Given the description of an element on the screen output the (x, y) to click on. 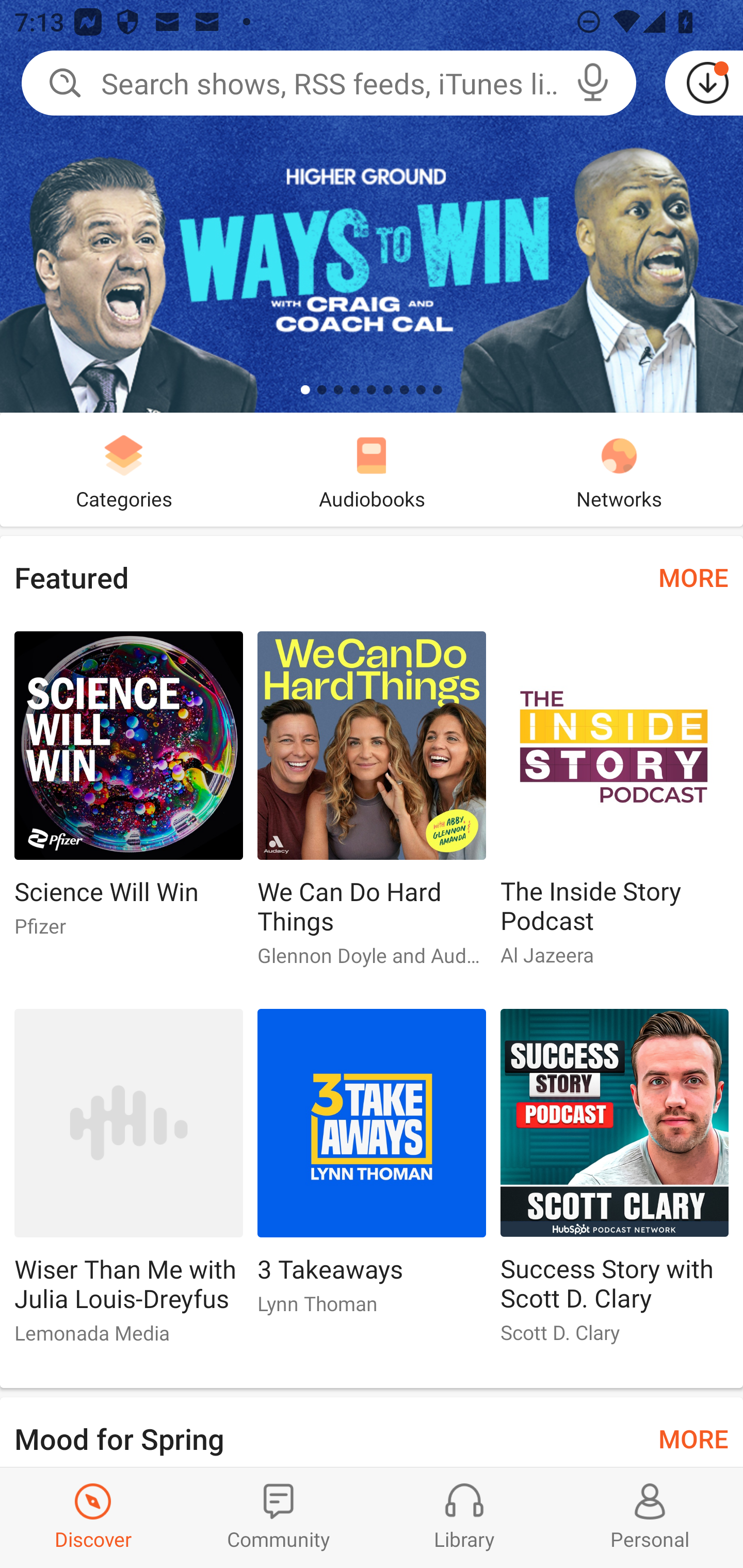
Ways To Win (371, 206)
Categories (123, 469)
Audiobooks (371, 469)
Networks (619, 469)
MORE (693, 576)
Science Will Win Science Will Win Pfizer (128, 792)
3 Takeaways 3 Takeaways Lynn Thoman (371, 1169)
MORE (693, 1436)
Discover (92, 1517)
Community (278, 1517)
Library (464, 1517)
Profiles and Settings Personal (650, 1517)
